Given the description of an element on the screen output the (x, y) to click on. 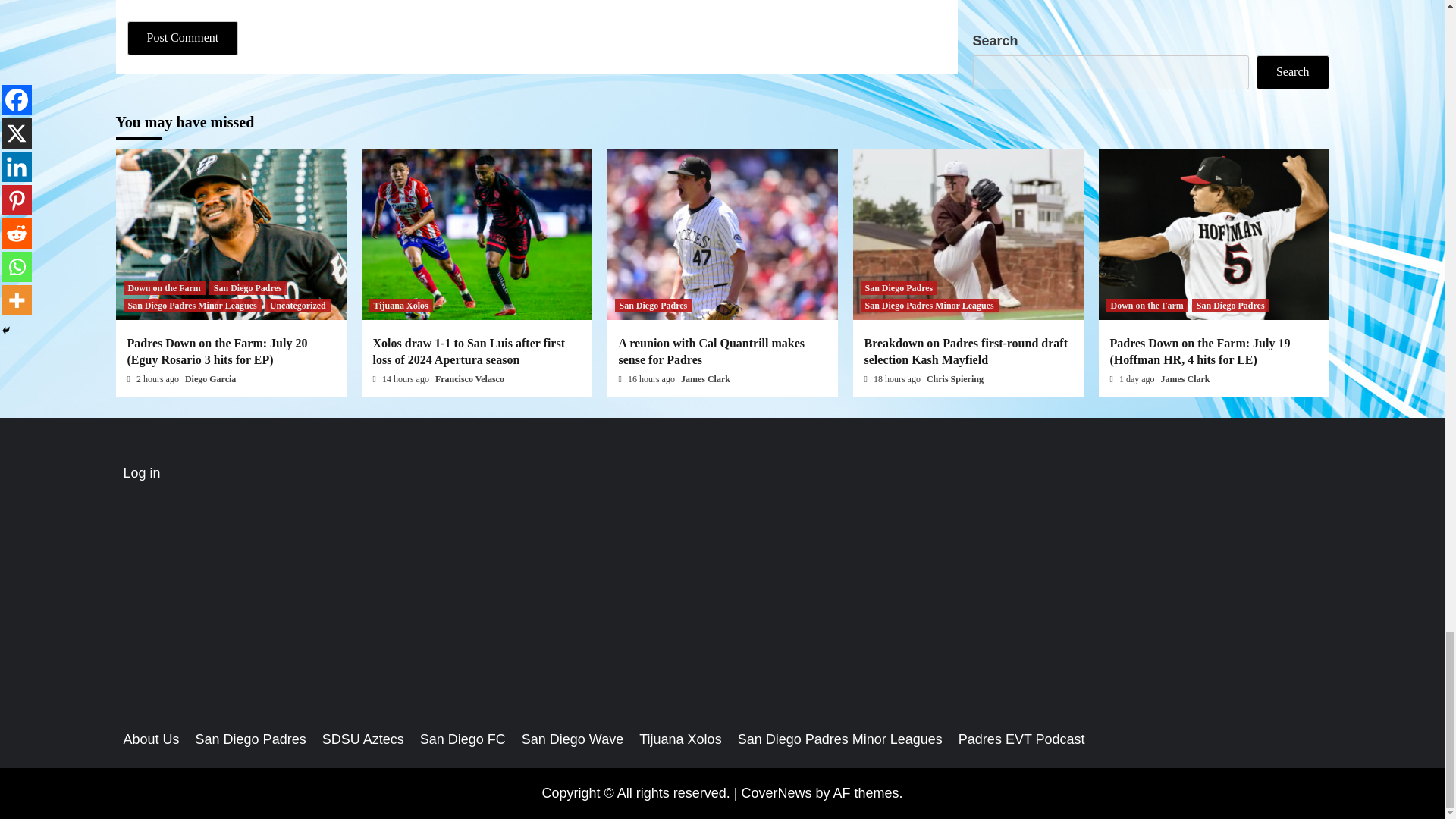
Post Comment (183, 38)
